Given the description of an element on the screen output the (x, y) to click on. 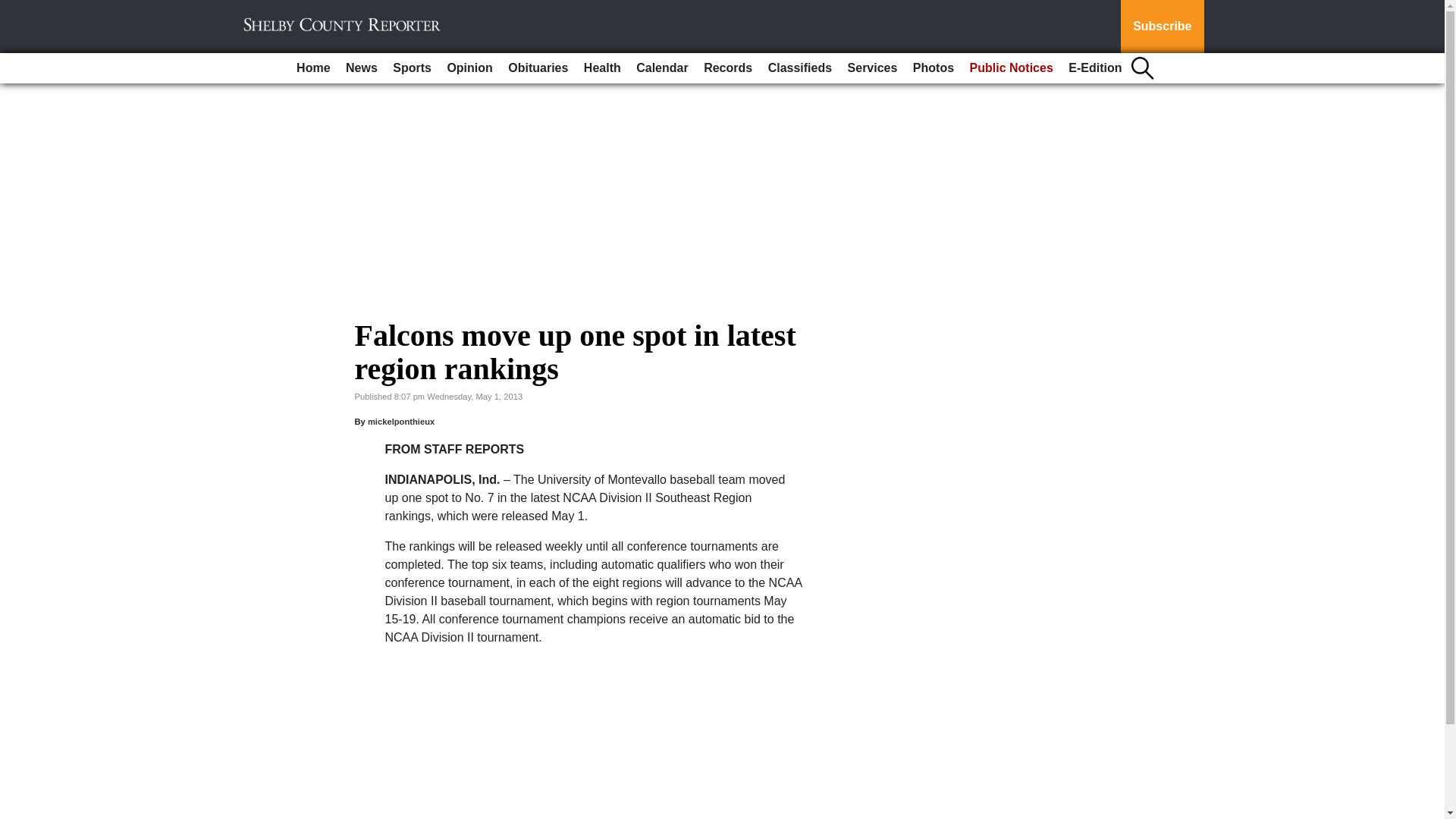
Health (602, 68)
Home (312, 68)
Calendar (662, 68)
Classifieds (799, 68)
Obituaries (537, 68)
Sports (412, 68)
News (361, 68)
Subscribe (1162, 26)
Records (727, 68)
Opinion (469, 68)
Services (872, 68)
